Given the description of an element on the screen output the (x, y) to click on. 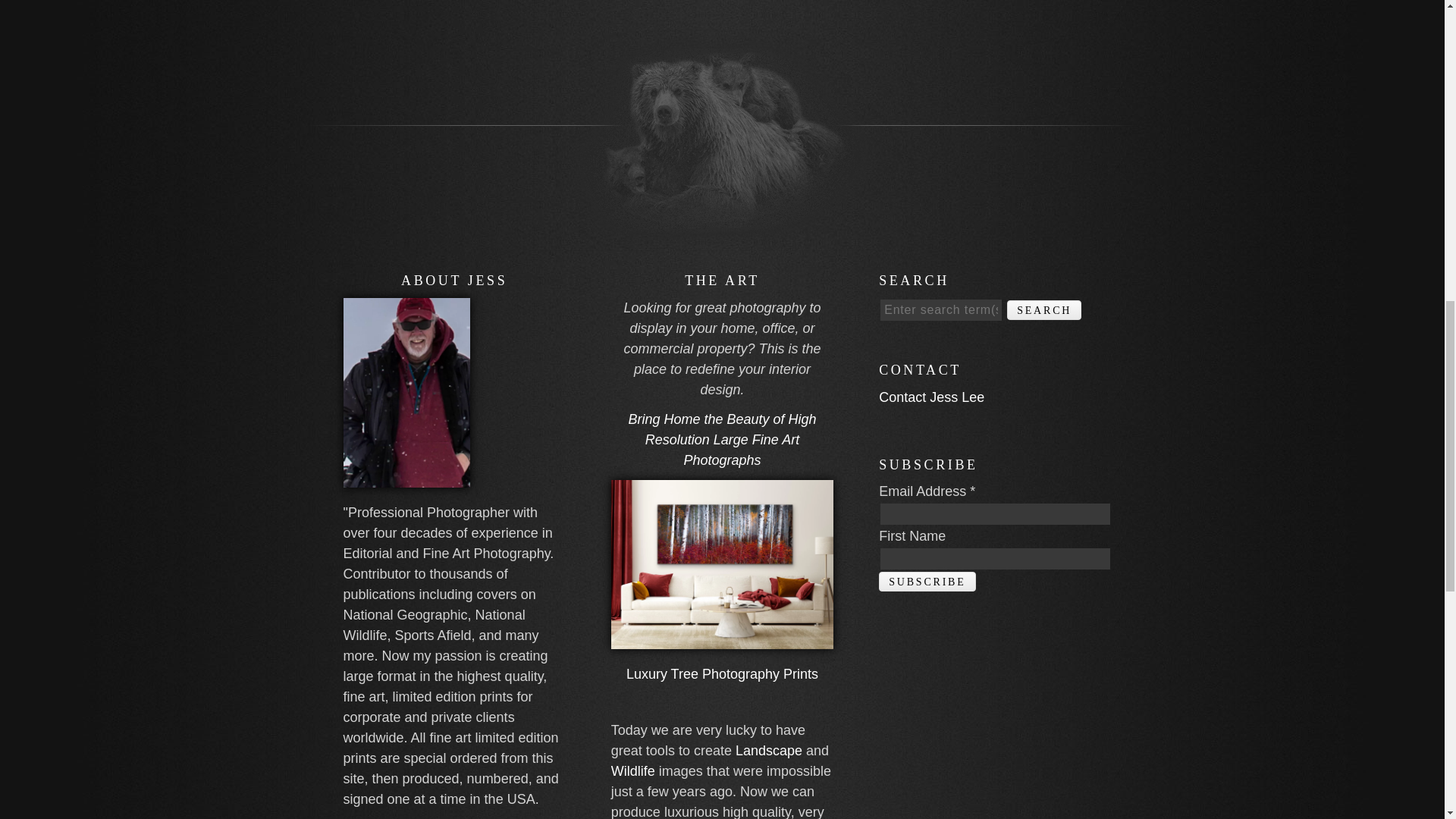
SEARCH (1044, 310)
Subscribe (927, 581)
Subscribe (927, 581)
Contact Jess Lee (931, 396)
Landscape (768, 750)
Wildlife (633, 770)
Luxury Tree Photography Prints (722, 673)
